Given the description of an element on the screen output the (x, y) to click on. 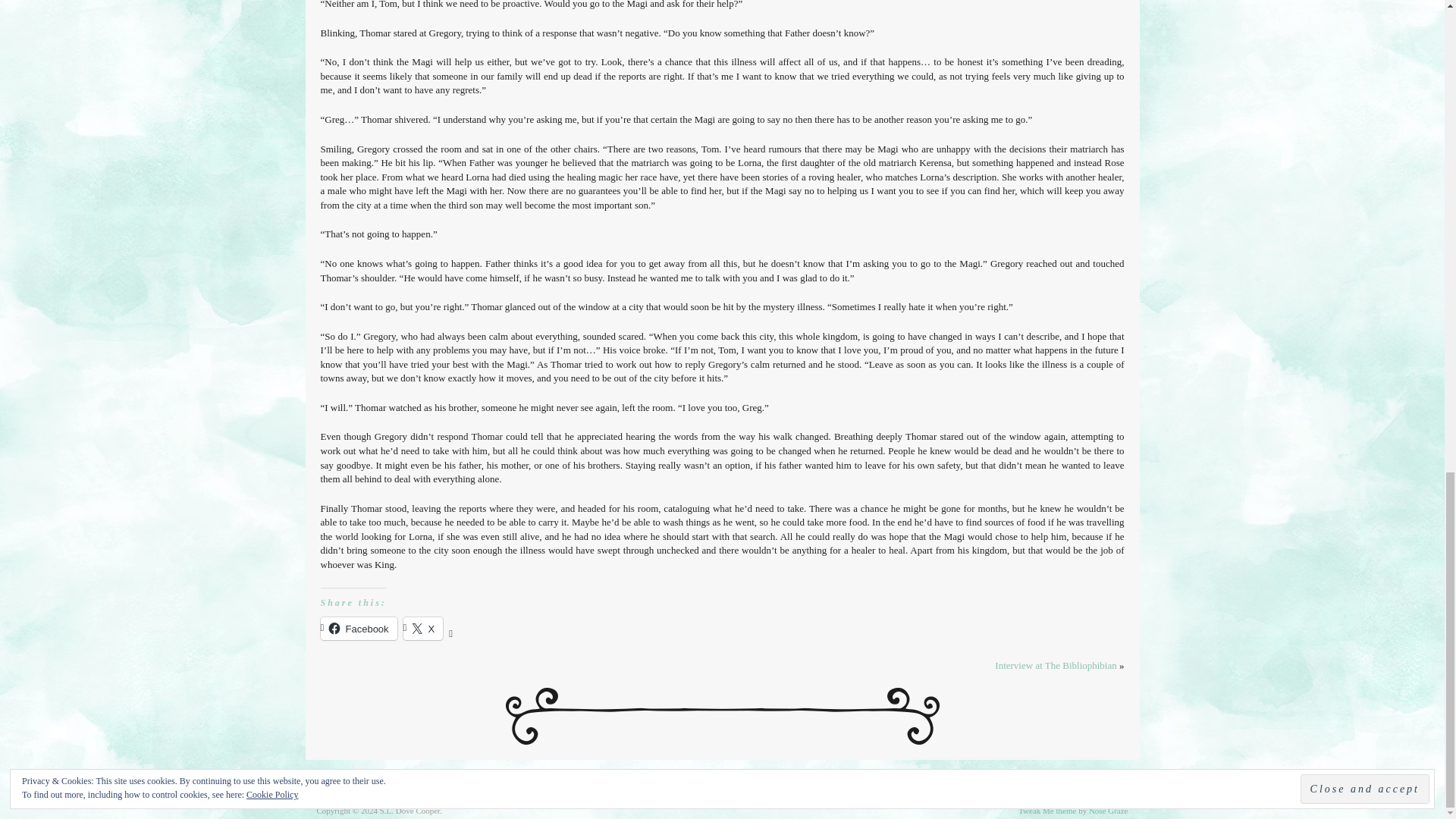
Tweak Me theme (1046, 809)
Click to share on X (423, 628)
Click to share on Facebook (358, 628)
X (423, 628)
Interview at The Bibliophibian (1055, 665)
Nose Graze (1108, 809)
Facebook (358, 628)
